Given the description of an element on the screen output the (x, y) to click on. 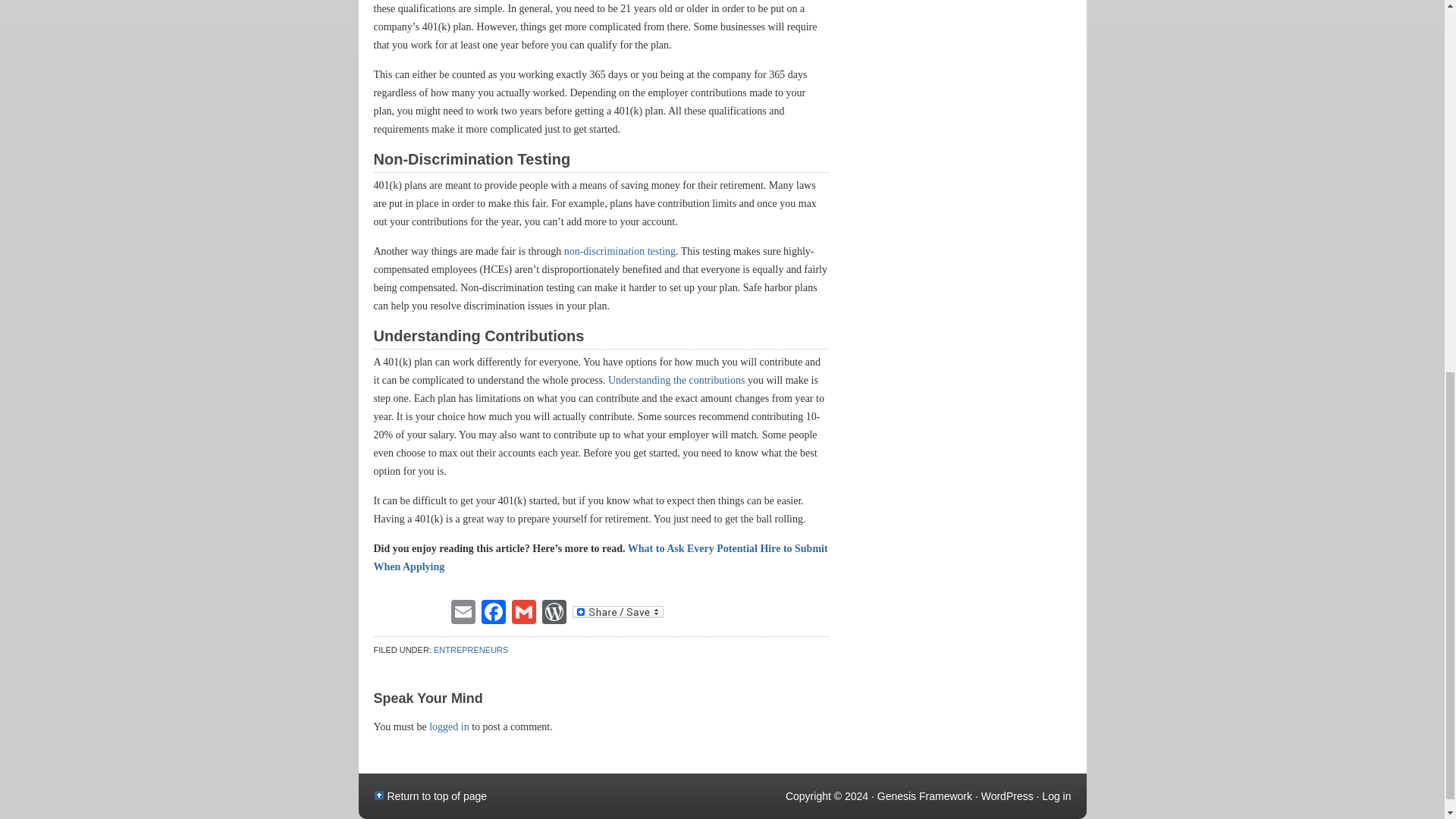
Understanding the contributions (676, 379)
non-discrimination testing (619, 251)
Email (461, 611)
Facebook (492, 611)
What to Ask Every Potential Hire to Submit When Applying (599, 557)
Gmail (523, 611)
WordPress (553, 611)
Facebook (492, 611)
Email (461, 611)
